Given the description of an element on the screen output the (x, y) to click on. 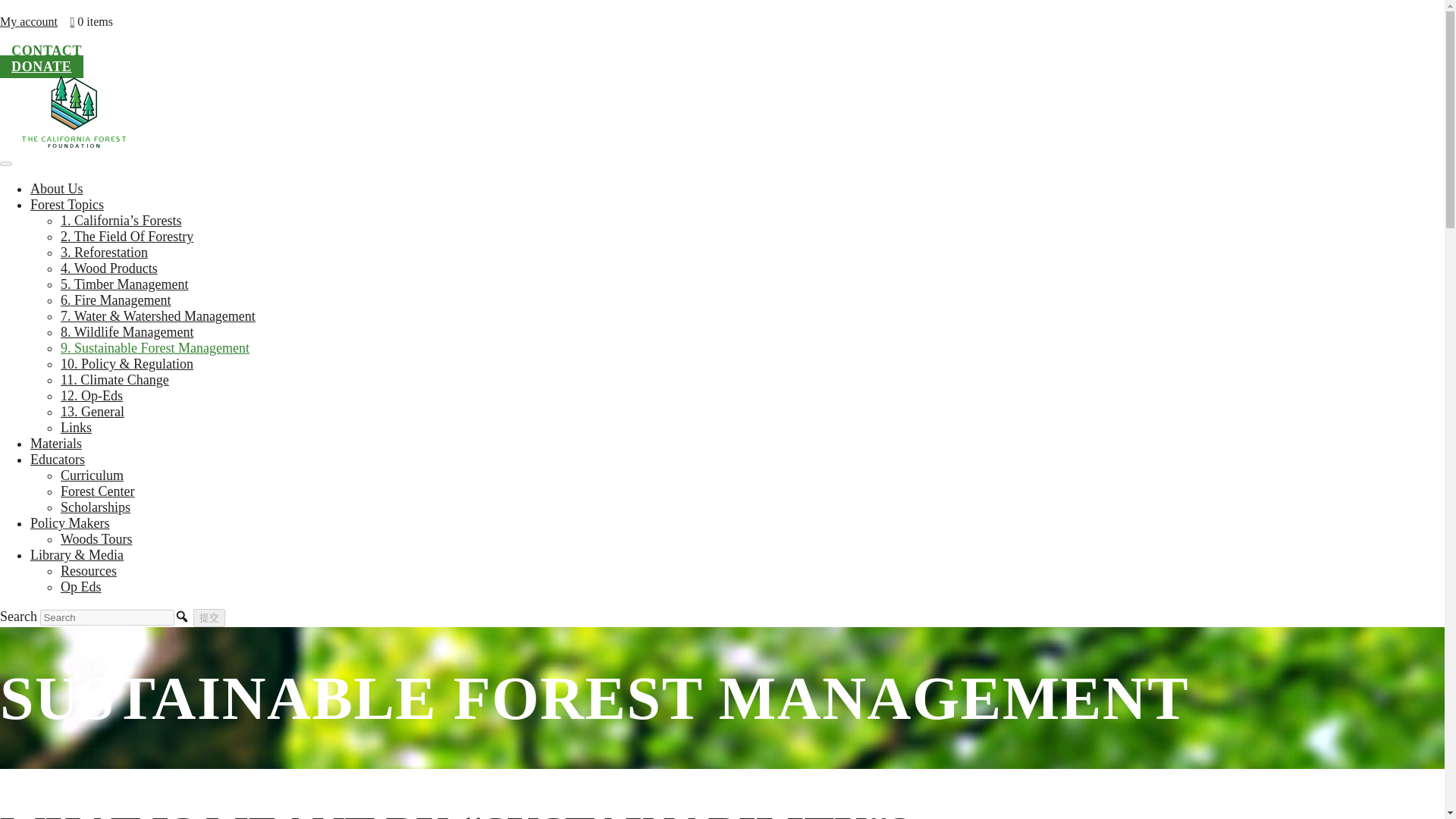
Links (76, 427)
Scholarships (96, 507)
My account (29, 21)
Curriculum (92, 475)
6. Fire Management (115, 299)
Op Eds (81, 586)
Forest Center (97, 491)
Contact (46, 50)
Woods Tours (96, 539)
Start shopping (91, 21)
Educators (57, 459)
11. Climate Change (114, 379)
About Us (56, 188)
9. Sustainable Forest Management (154, 347)
0 items (91, 21)
